Given the description of an element on the screen output the (x, y) to click on. 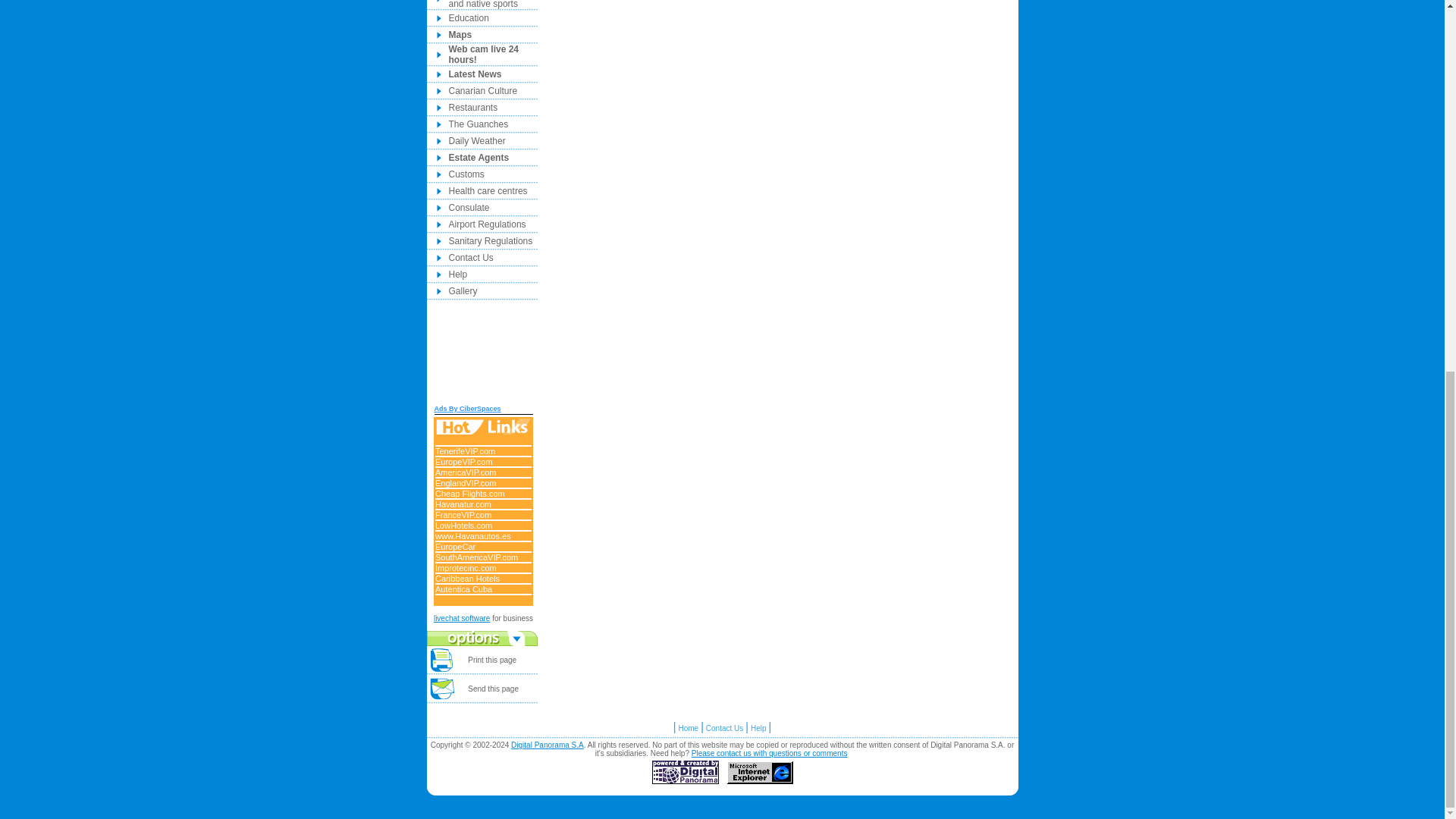
Advertisement (481, 355)
Restaurants (472, 107)
Maps (459, 34)
Latest News (475, 73)
Canarian Culture (483, 90)
Recreation, traditional and native sports (492, 4)
Web cam live 24 hours! (483, 54)
Education (468, 18)
